Given the description of an element on the screen output the (x, y) to click on. 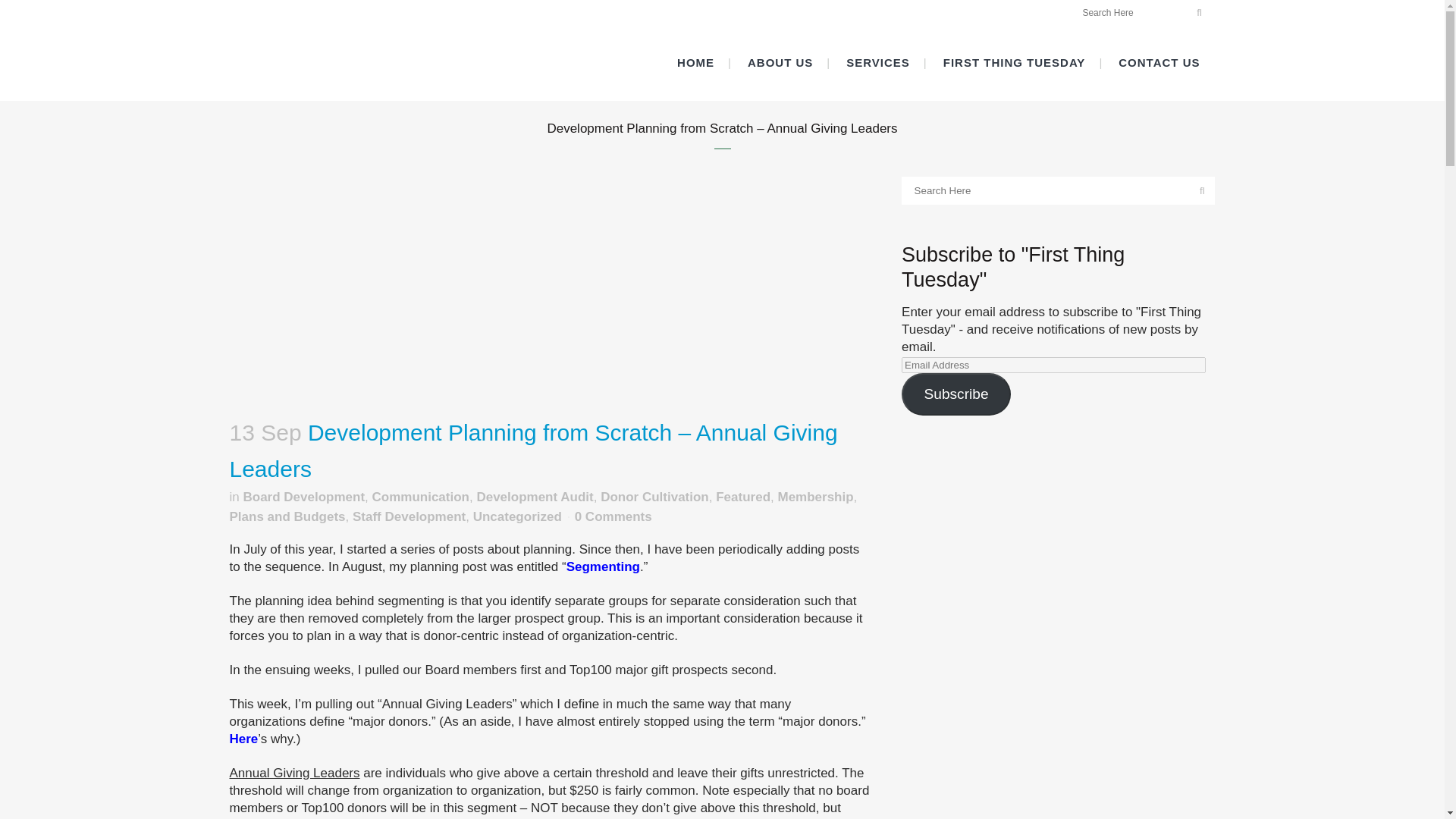
FIRST THING TUESDAY (1014, 62)
Donor Cultivation (654, 496)
Board Development (304, 496)
Featured (743, 496)
HOME (695, 62)
Communication (420, 496)
Development Audit (534, 496)
ABOUT US (780, 62)
SERVICES (877, 62)
CONTACT US (1158, 62)
